Given the description of an element on the screen output the (x, y) to click on. 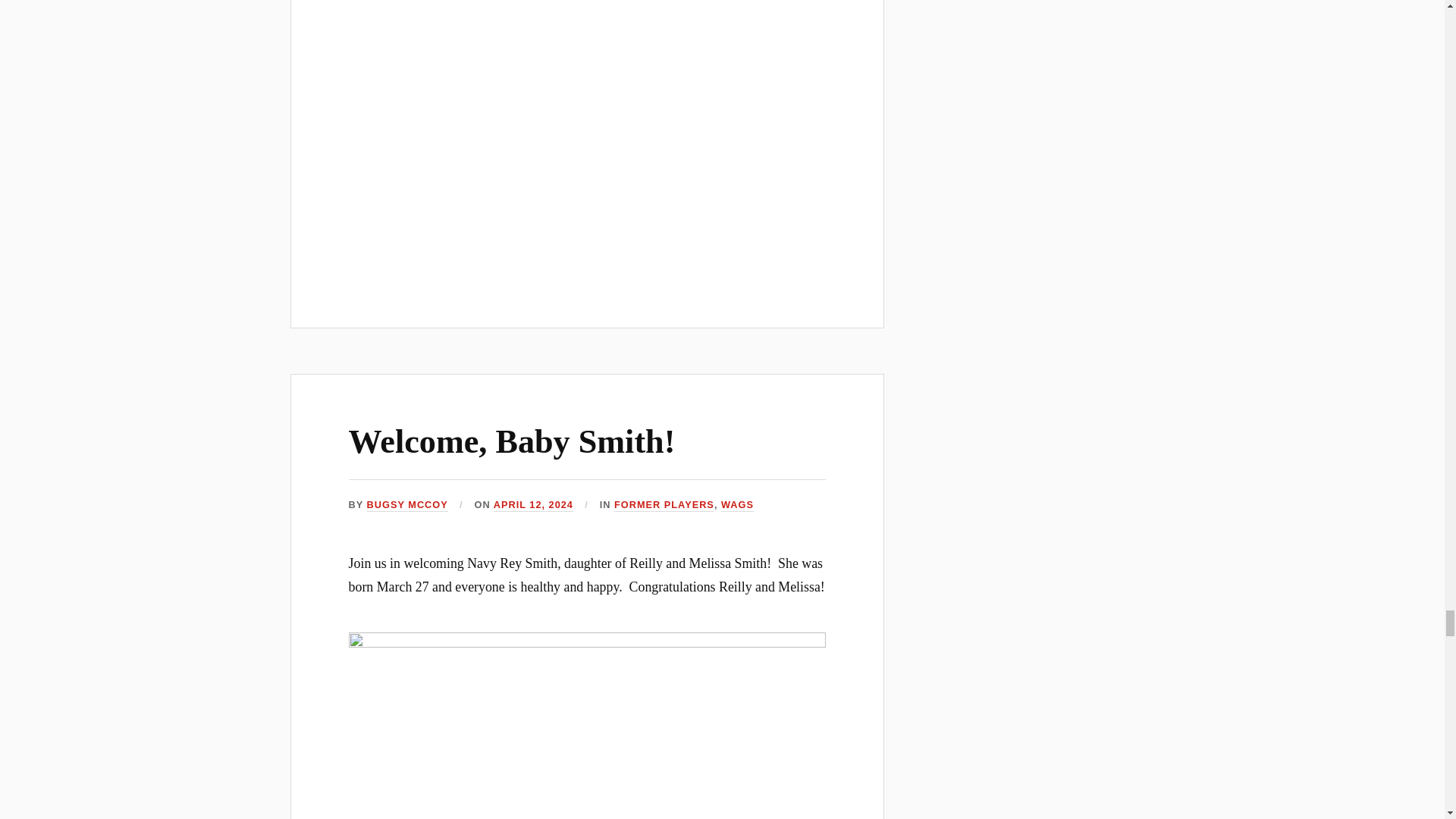
Posts by Bugsy McCoy (407, 504)
